Given the description of an element on the screen output the (x, y) to click on. 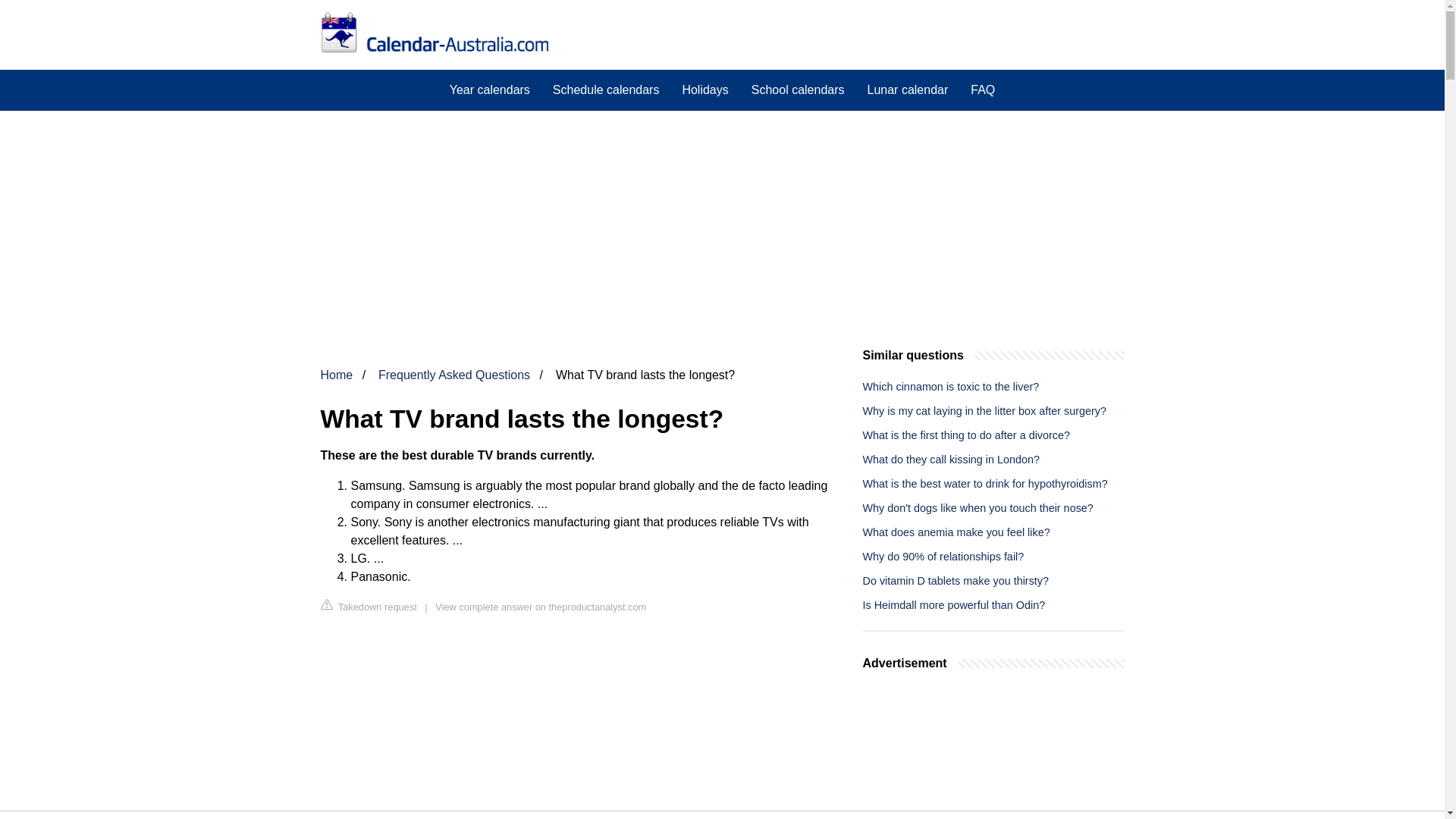
School calendars (797, 89)
Home (336, 374)
Frequently Asked Questions (453, 374)
Lunar calendar (907, 89)
FAQ (982, 89)
Year calendars (489, 89)
Takedown request (368, 606)
Holidays (704, 89)
Schedule calendars (606, 89)
View complete answer on theproductanalyst.com (540, 606)
